Given the description of an element on the screen output the (x, y) to click on. 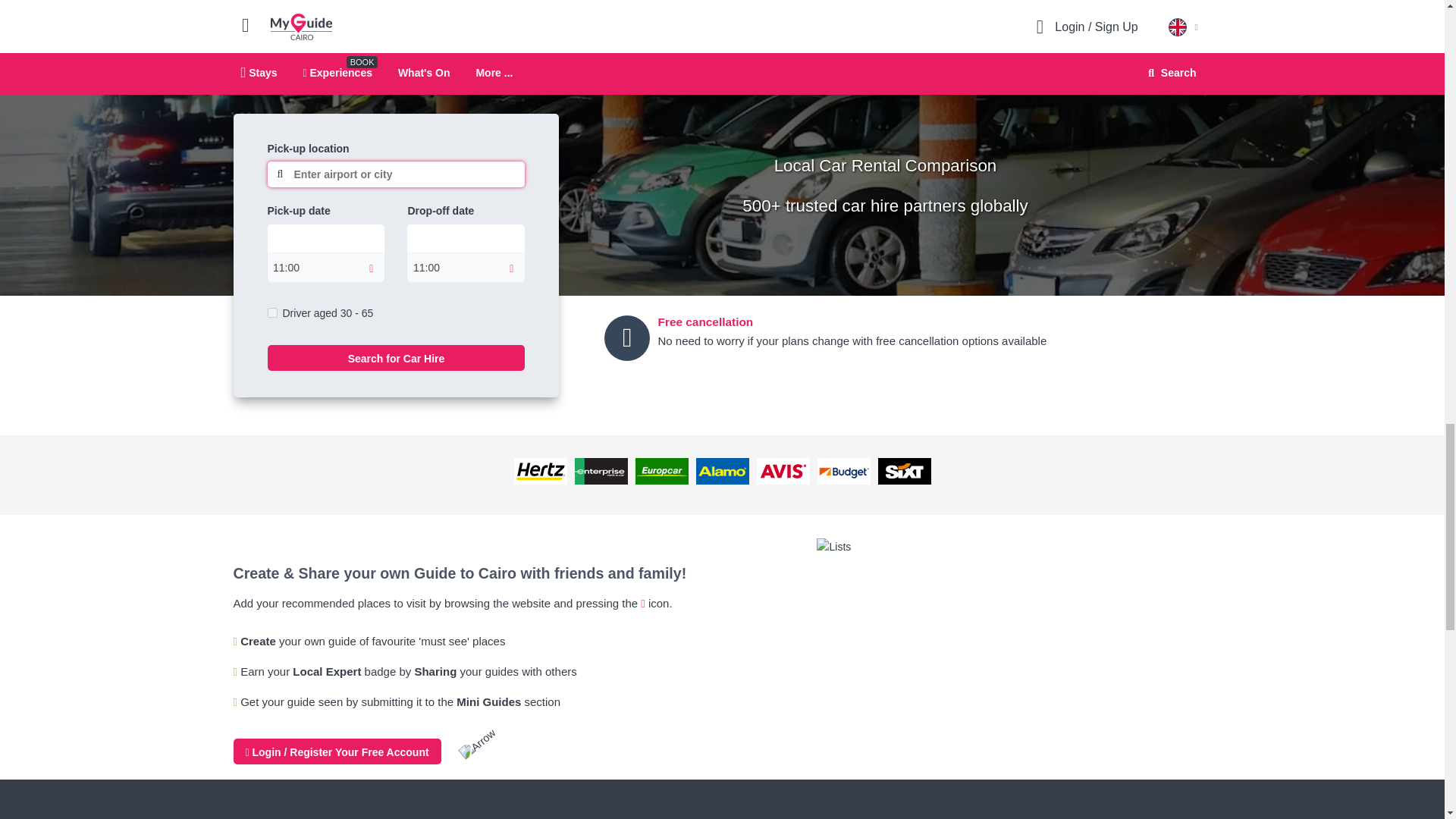
on (271, 312)
